Given the description of an element on the screen output the (x, y) to click on. 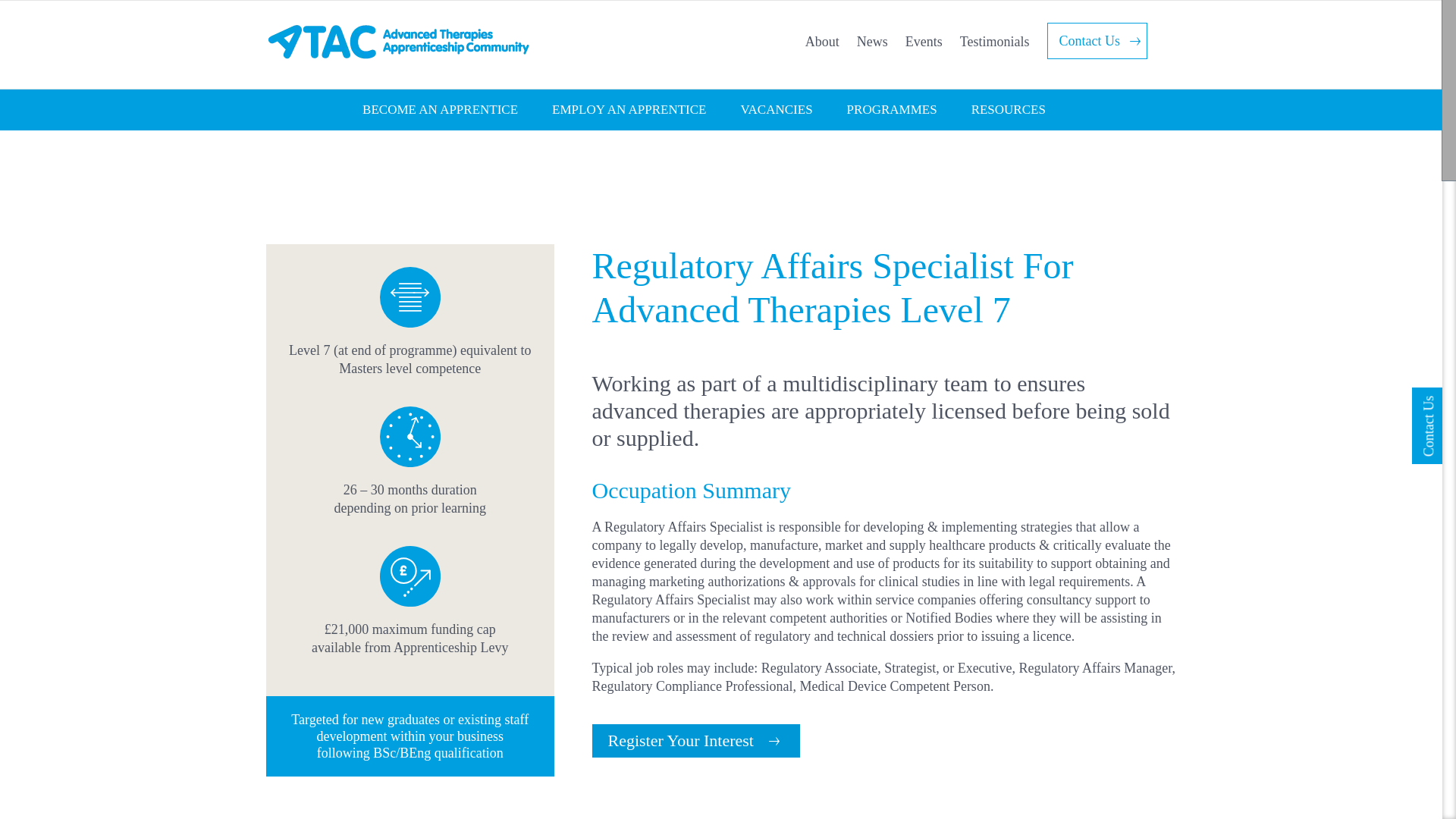
PROGRAMMES (909, 109)
About (822, 42)
EMPLOY AN APPRENTICE (645, 109)
RESOURCES (1025, 109)
News (872, 42)
VACANCIES (792, 109)
Contact Us (1096, 40)
BECOME AN APPRENTICE (456, 109)
Testimonials (994, 42)
Events (923, 42)
